Given the description of an element on the screen output the (x, y) to click on. 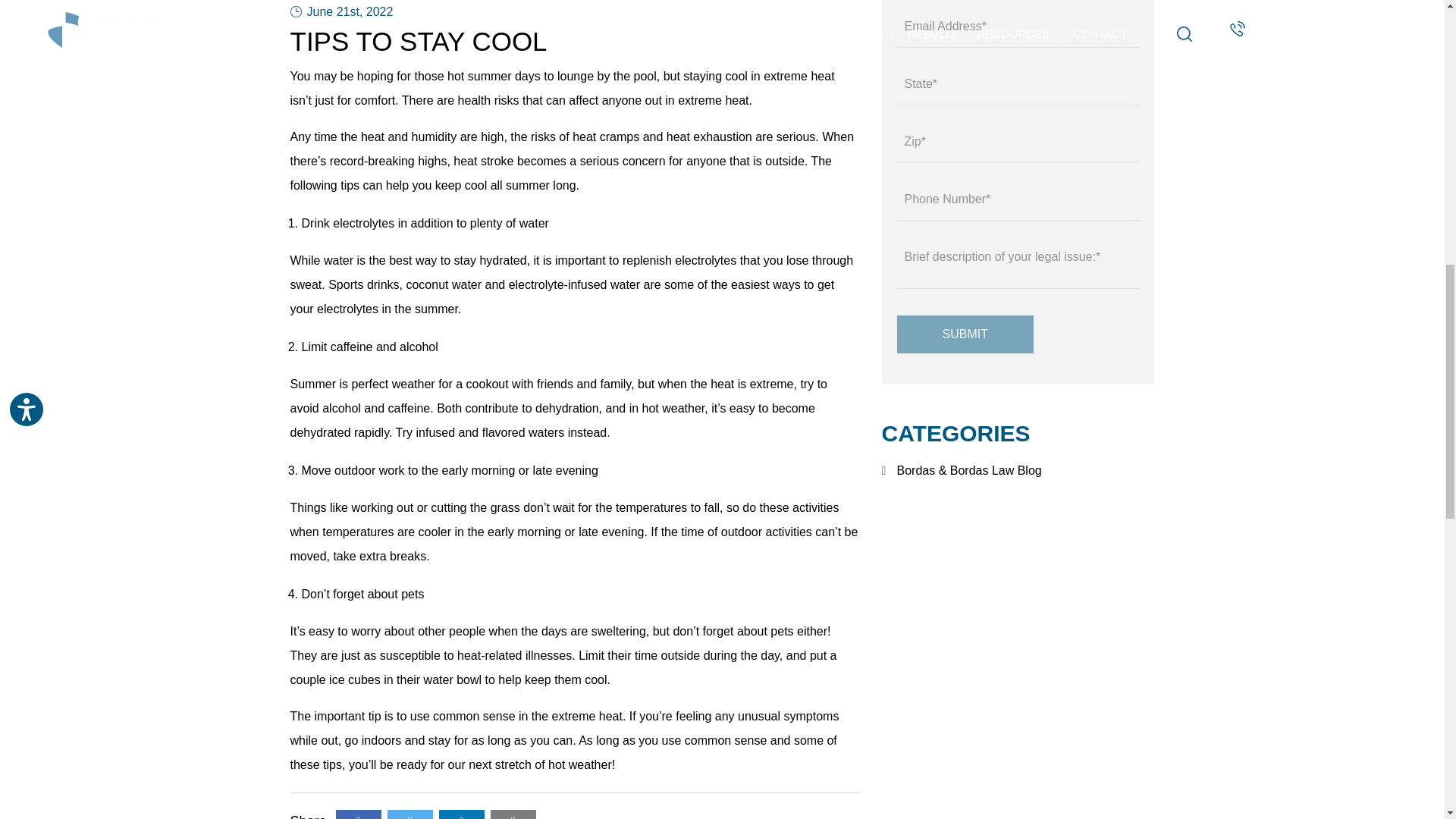
Submit (964, 333)
